Given the description of an element on the screen output the (x, y) to click on. 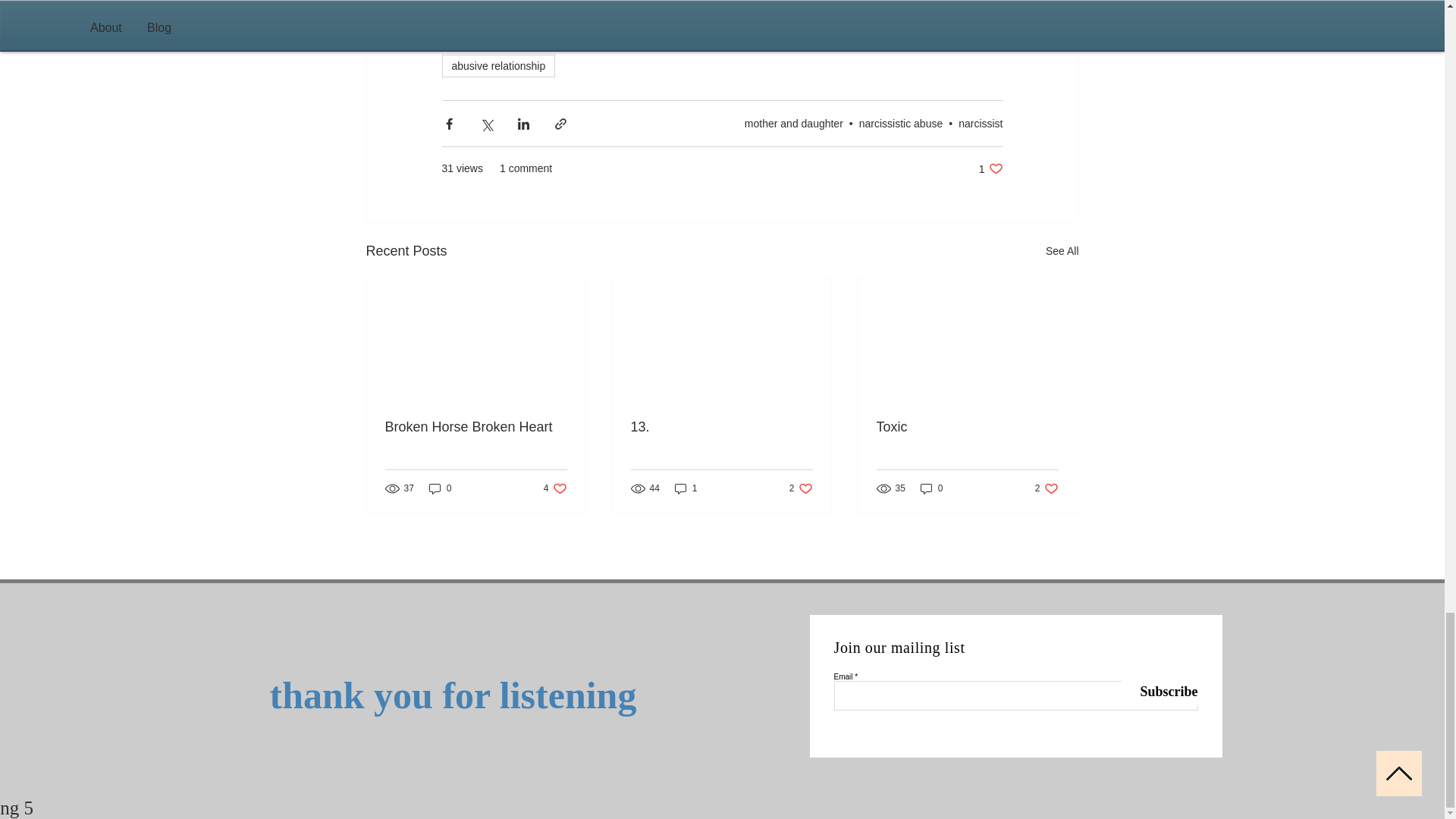
Broken Horse Broken Heart (476, 426)
mother and daughter (769, 36)
1 (685, 487)
narcissistic abuse (901, 122)
See All (800, 487)
0 (1061, 251)
soul journey (440, 487)
goinghome (589, 36)
mother and daughter (870, 36)
abusive relationship (793, 122)
shamanism (497, 65)
narcissist (949, 36)
